Given the description of an element on the screen output the (x, y) to click on. 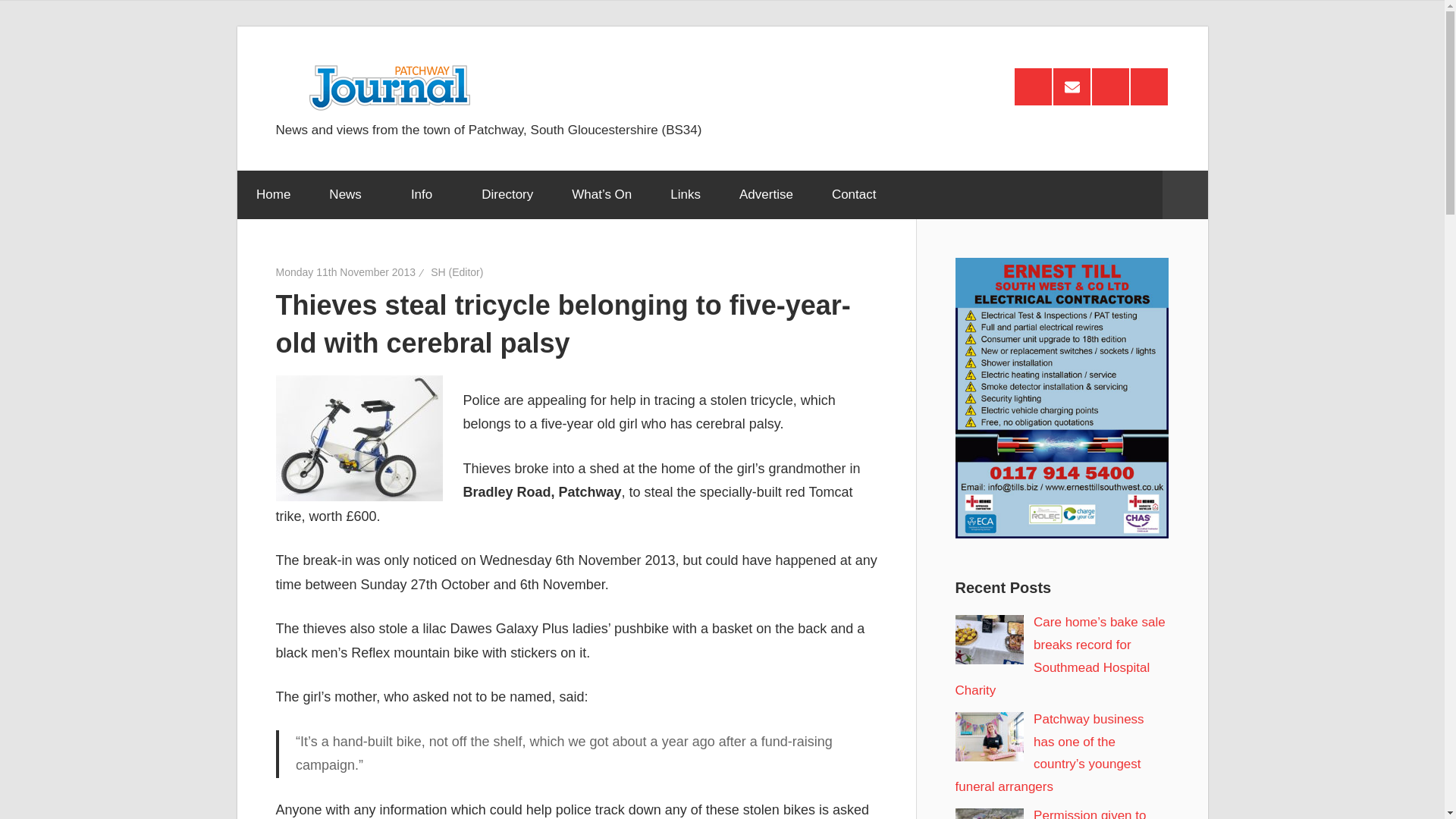
Subscribe by Email (1071, 86)
Patchway Journal on Facebook (1110, 86)
Feed (1032, 86)
Info (426, 194)
Facebook (1110, 86)
Get the Patchway Journal delivered by email (1071, 86)
Patchway Journal on Twitter (1149, 86)
Home (271, 194)
11:57am (345, 272)
Tomcat trike. (359, 438)
RSS news feed of the Patchway Journal (1032, 86)
News (350, 194)
Twitter (1149, 86)
